Given the description of an element on the screen output the (x, y) to click on. 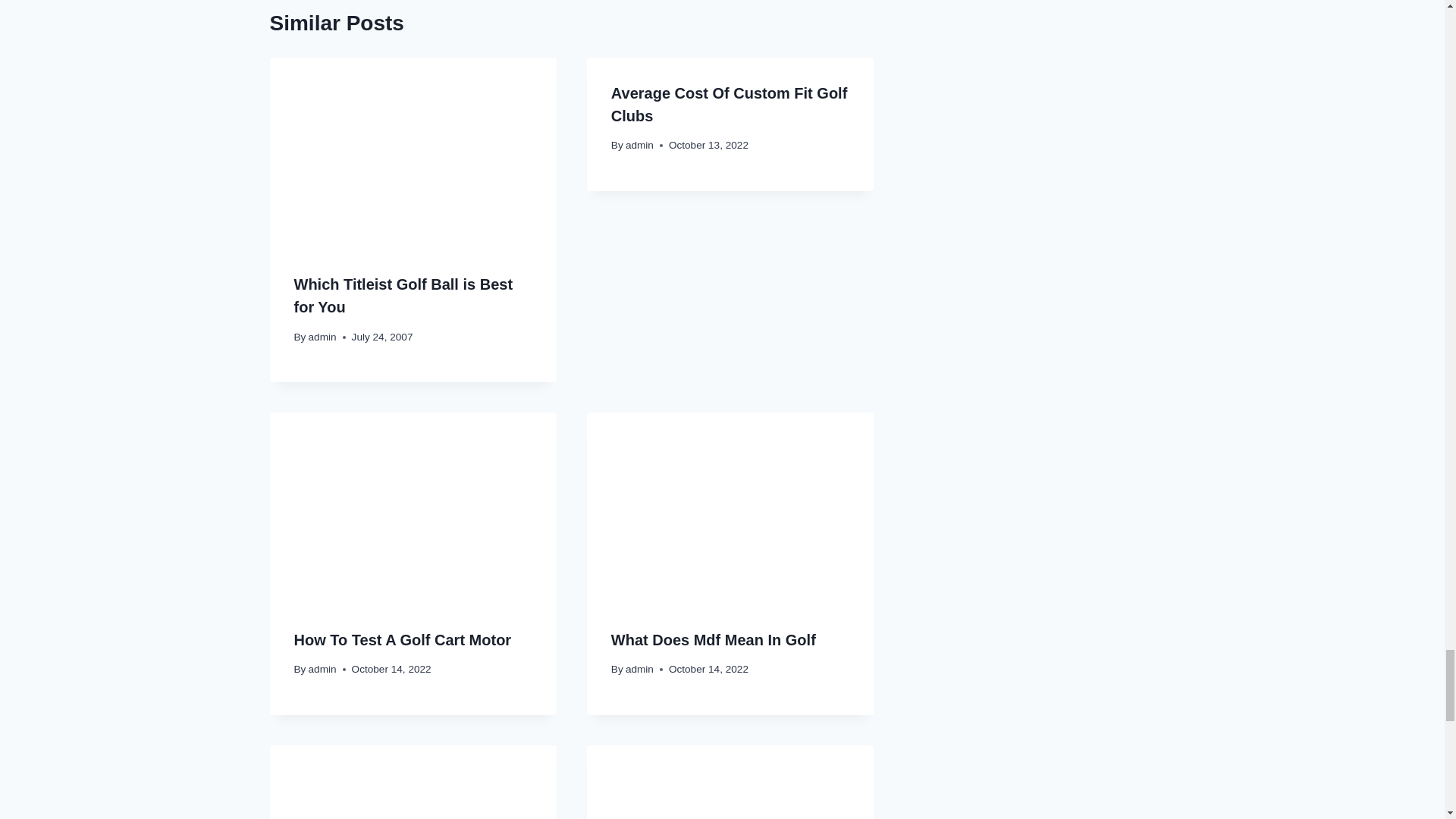
Average Cost Of Custom Fit Golf Clubs (729, 104)
admin (322, 337)
How To Test A Golf Cart Motor (403, 639)
admin (322, 668)
What Does Mdf Mean In Golf (713, 639)
admin (639, 668)
admin (639, 144)
Which Titleist Golf Ball is Best for You (403, 295)
